Given the description of an element on the screen output the (x, y) to click on. 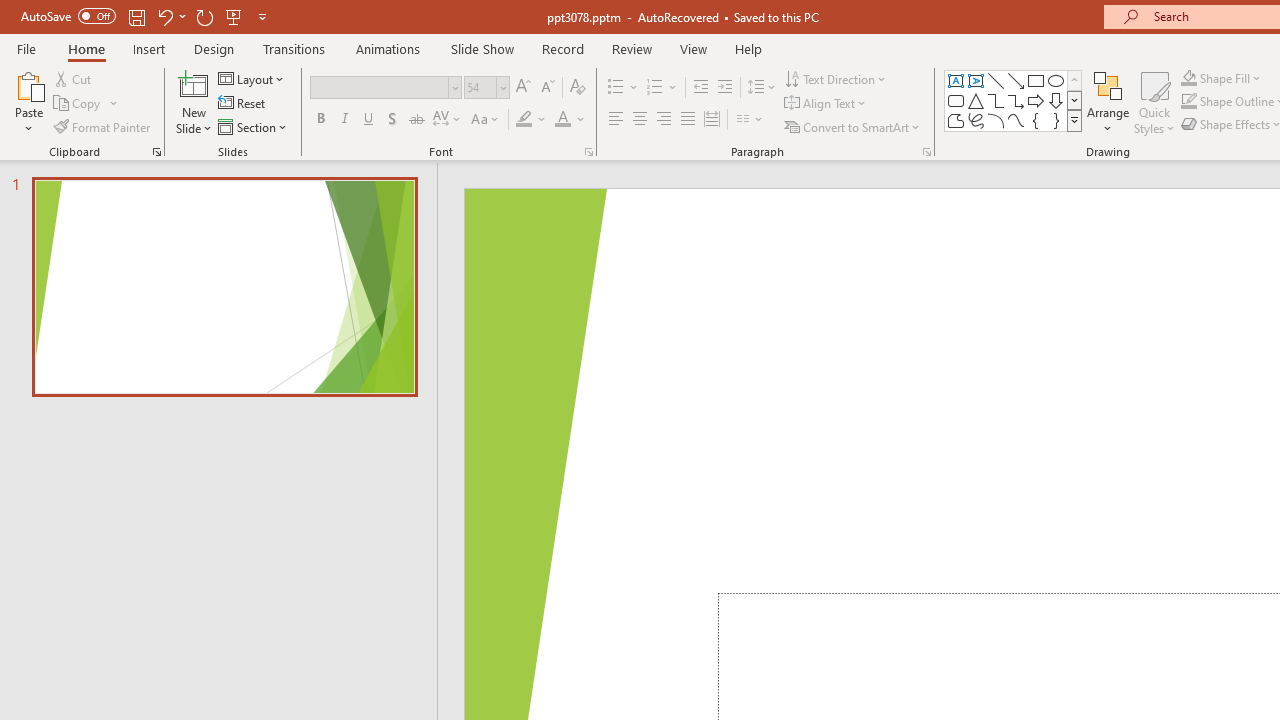
AutoSave (68, 16)
From Beginning (234, 15)
Font Color (569, 119)
View (693, 48)
Reset (243, 103)
Rectangle (1035, 80)
Font Size (486, 87)
Paste (28, 102)
Increase Indent (725, 87)
Change Case (486, 119)
